Given the description of an element on the screen output the (x, y) to click on. 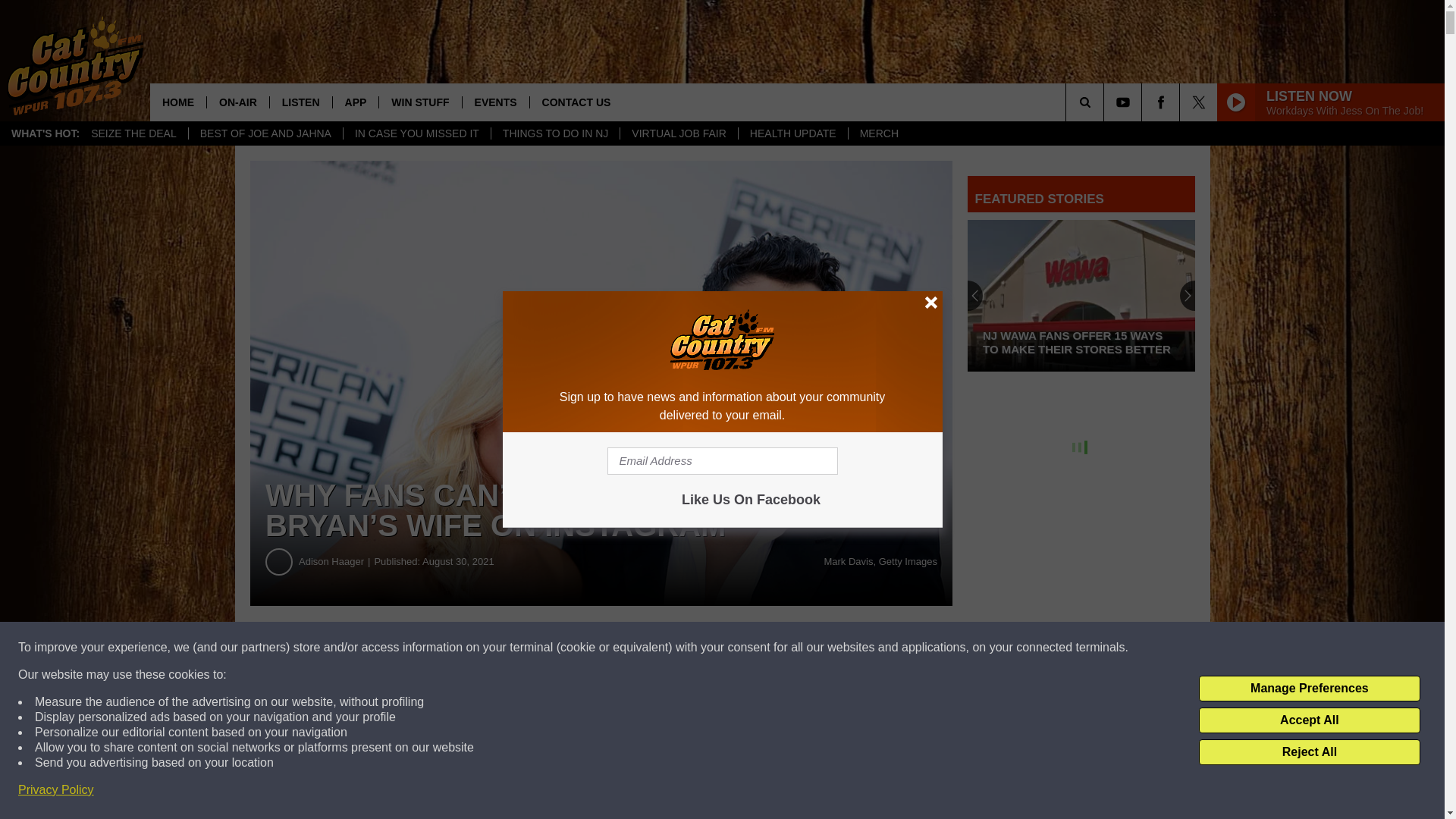
Share on Facebook (460, 647)
HEALTH UPDATE (792, 133)
Share on Twitter (741, 647)
THINGS TO DO IN NJ (555, 133)
SEARCH (1106, 102)
Reject All (1309, 751)
APP (354, 102)
LISTEN (300, 102)
IN CASE YOU MISSED IT (416, 133)
BEST OF JOE AND JAHNA (264, 133)
WIN STUFF (419, 102)
Accept All (1309, 720)
Email Address (722, 461)
Manage Preferences (1309, 688)
MERCH (878, 133)
